Given the description of an element on the screen output the (x, y) to click on. 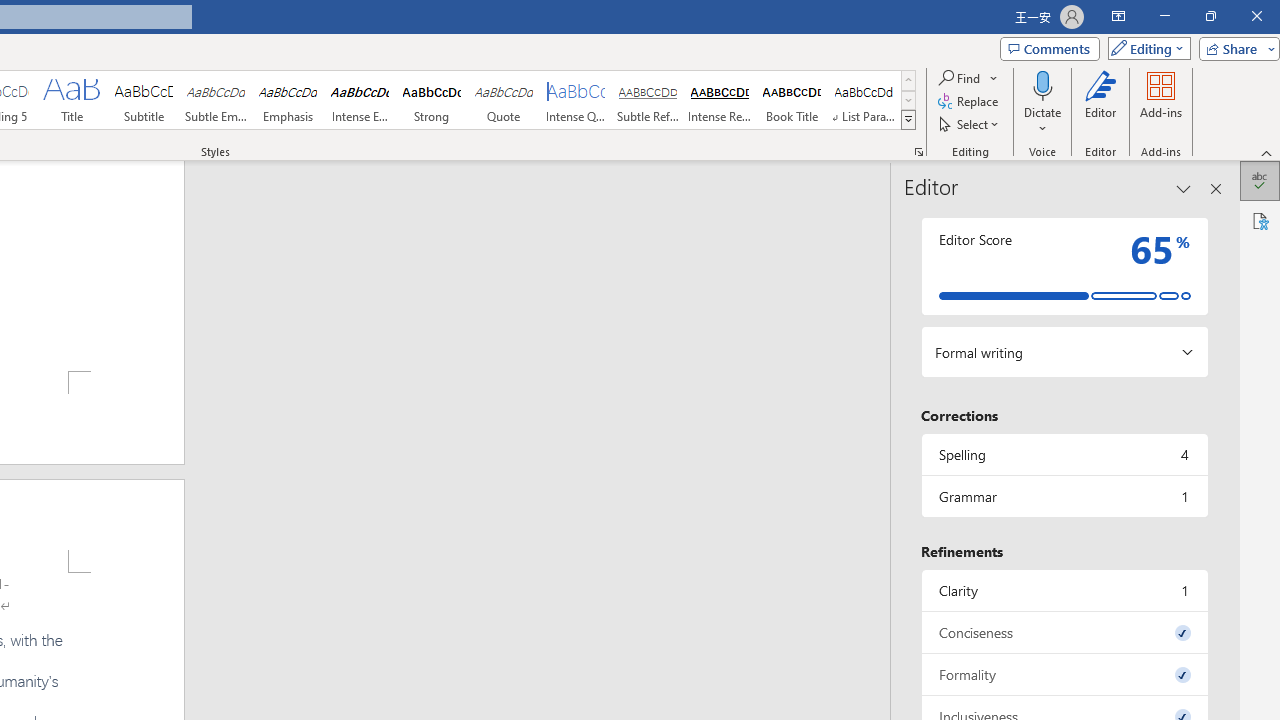
Quote (504, 100)
Subtle Emphasis (216, 100)
Intense Emphasis (359, 100)
Title (71, 100)
